Given the description of an element on the screen output the (x, y) to click on. 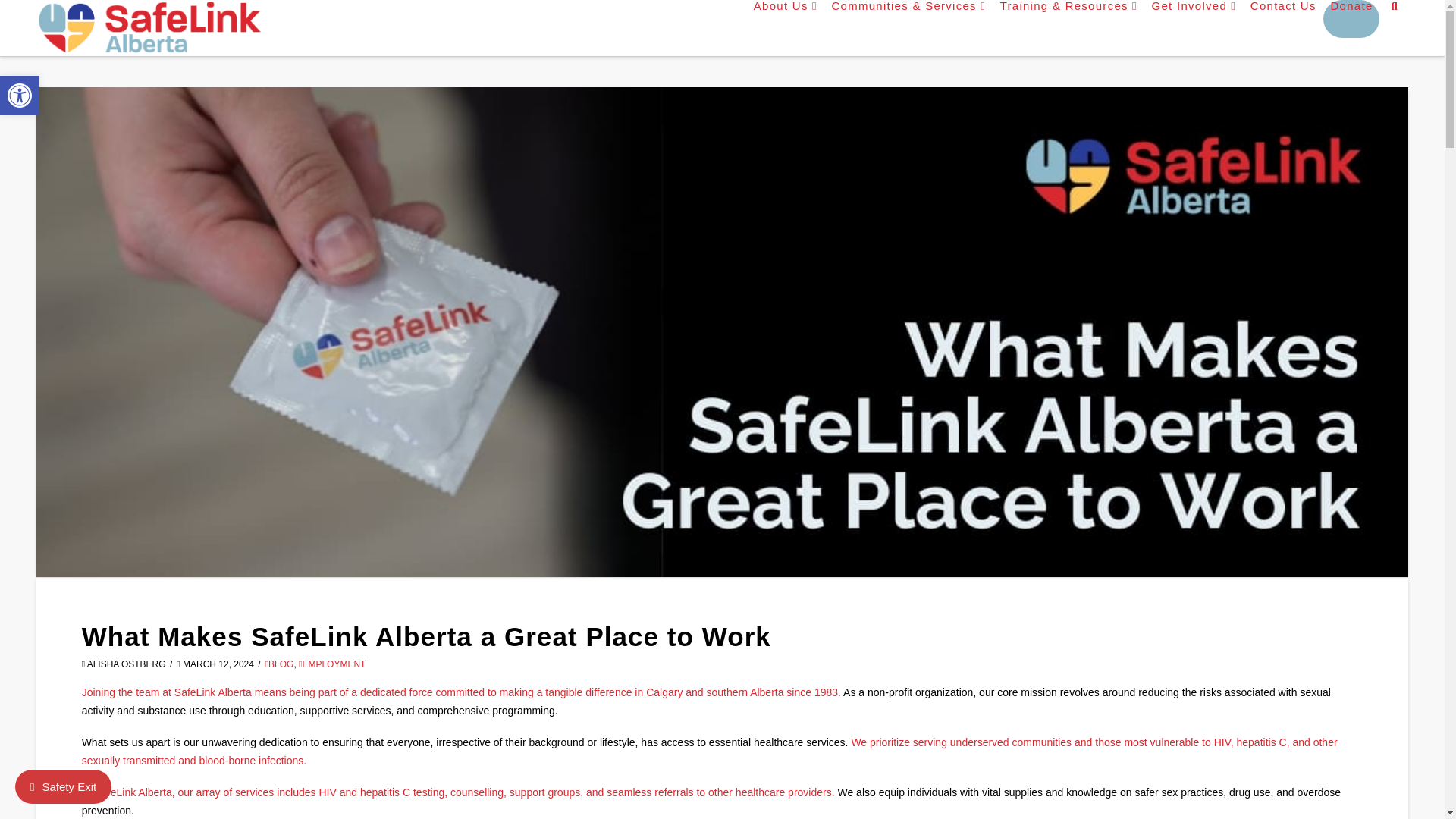
Safety Exit (63, 786)
About Us (784, 18)
Accessibility Tools (19, 95)
Accessibility Tools (19, 95)
